Given the description of an element on the screen output the (x, y) to click on. 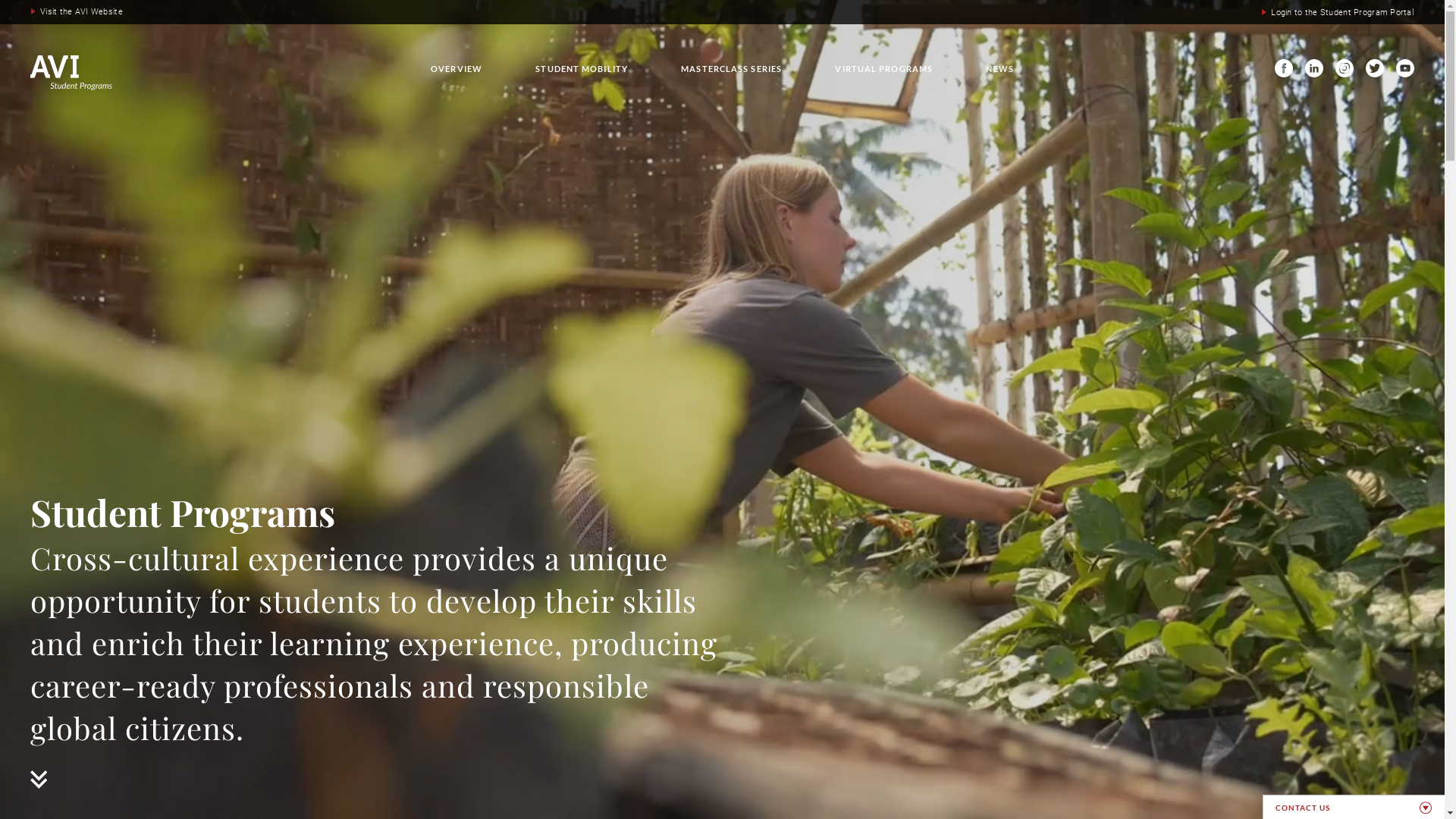
Youtube Element type: text (1405, 68)
Facebook Element type: text (1283, 68)
OVERVIEW Element type: text (456, 68)
NEWS Element type: text (999, 68)
Instagram Element type: text (1344, 68)
STUDENT MOBILITY Element type: text (581, 68)
Login to the Student Program Portal Element type: text (1336, 12)
VIRTUAL PROGRAMS Element type: text (883, 68)
MASTERCLASS SERIES Element type: text (730, 68)
Visit the AVI Website Element type: text (76, 12)
LinkedIn Element type: text (1314, 68)
Twitter Element type: text (1374, 68)
